Given the description of an element on the screen output the (x, y) to click on. 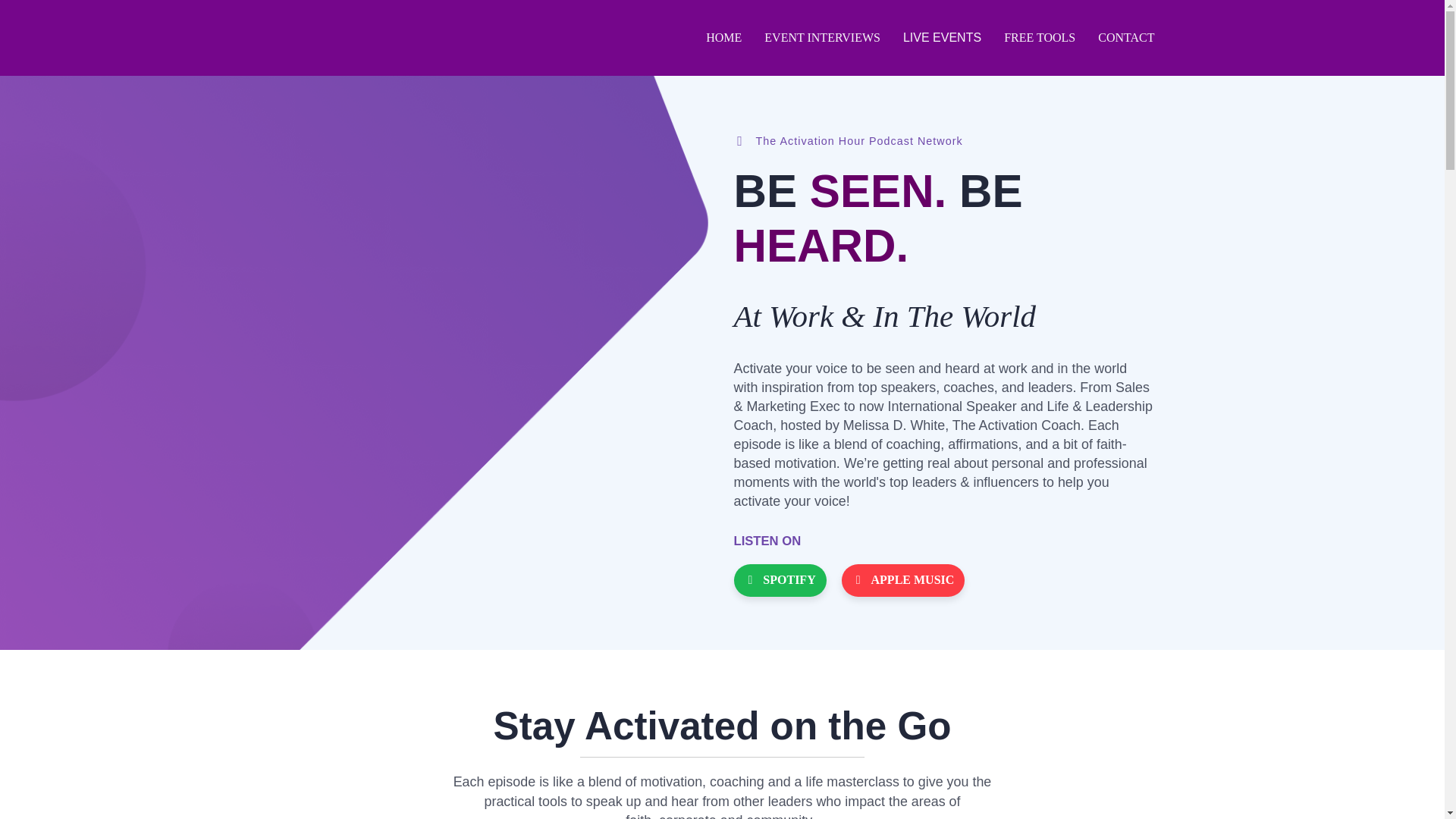
FREE TOOLS (1039, 37)
LIVE EVENTS (941, 37)
HOME (723, 37)
EVENT INTERVIEWS (821, 37)
SPOTIFY (780, 580)
CONTACT (1126, 37)
APPLE MUSIC (903, 580)
